Given the description of an element on the screen output the (x, y) to click on. 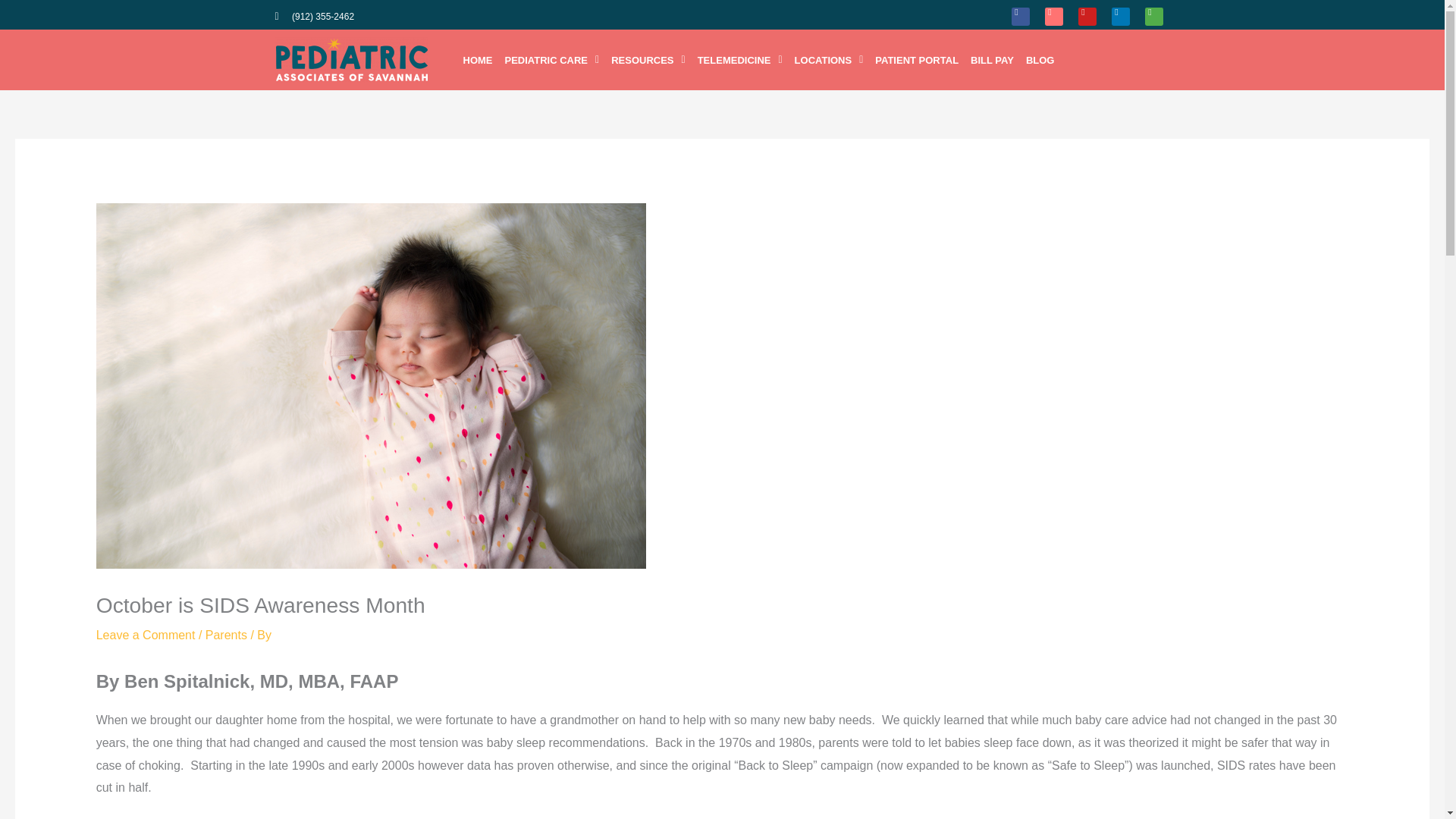
Instagram (1053, 16)
Youtube (1087, 16)
TELEMEDICINE (740, 60)
RESOURCES (647, 60)
LOCATIONS (829, 60)
Linkedin (1120, 16)
Pinterest (1153, 16)
PEDIATRIC CARE (552, 60)
HOME (477, 60)
Facebook (1020, 16)
